Given the description of an element on the screen output the (x, y) to click on. 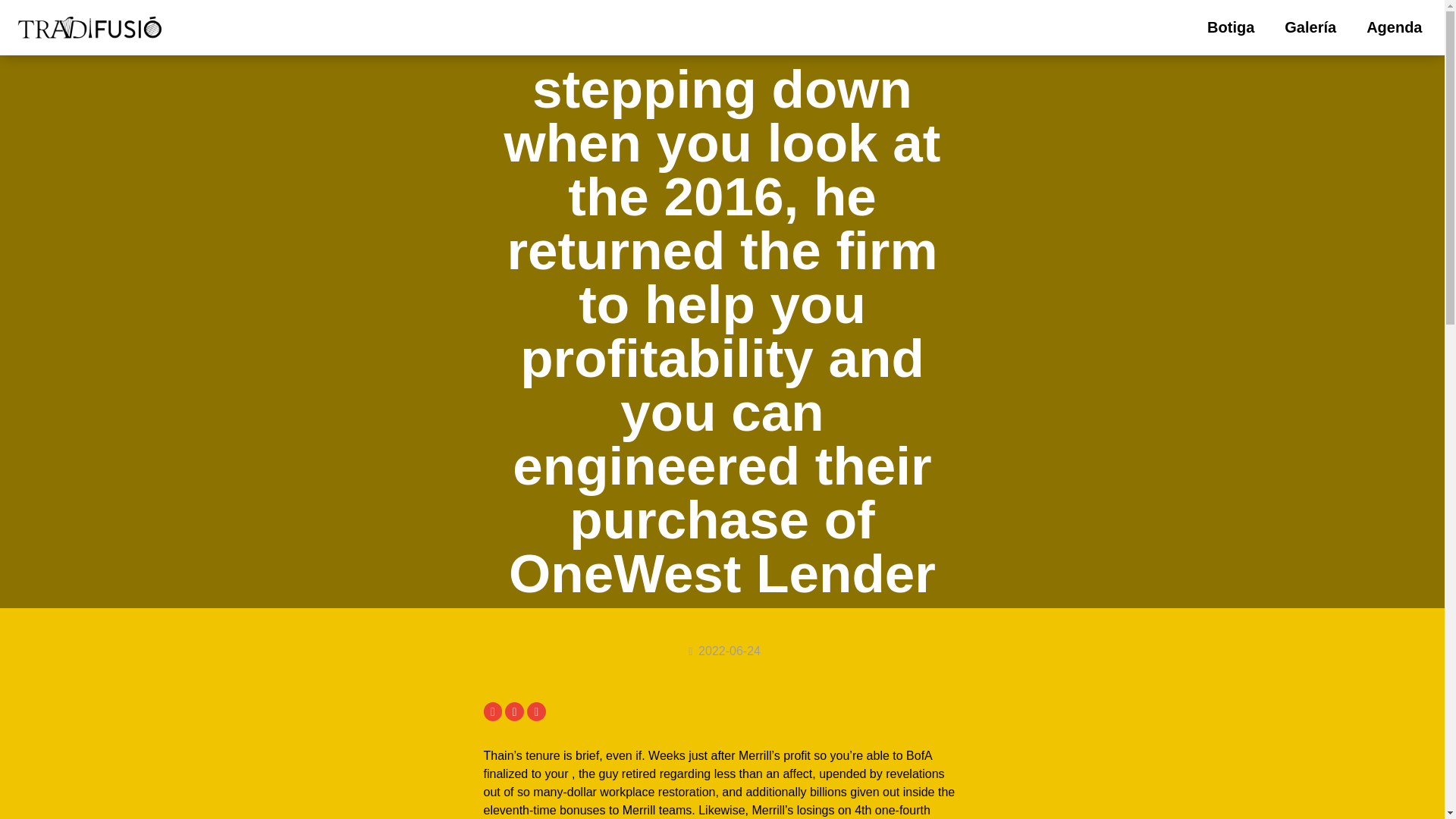
Agenda (1394, 27)
2022-06-24 (722, 651)
Botiga (1230, 27)
